Given the description of an element on the screen output the (x, y) to click on. 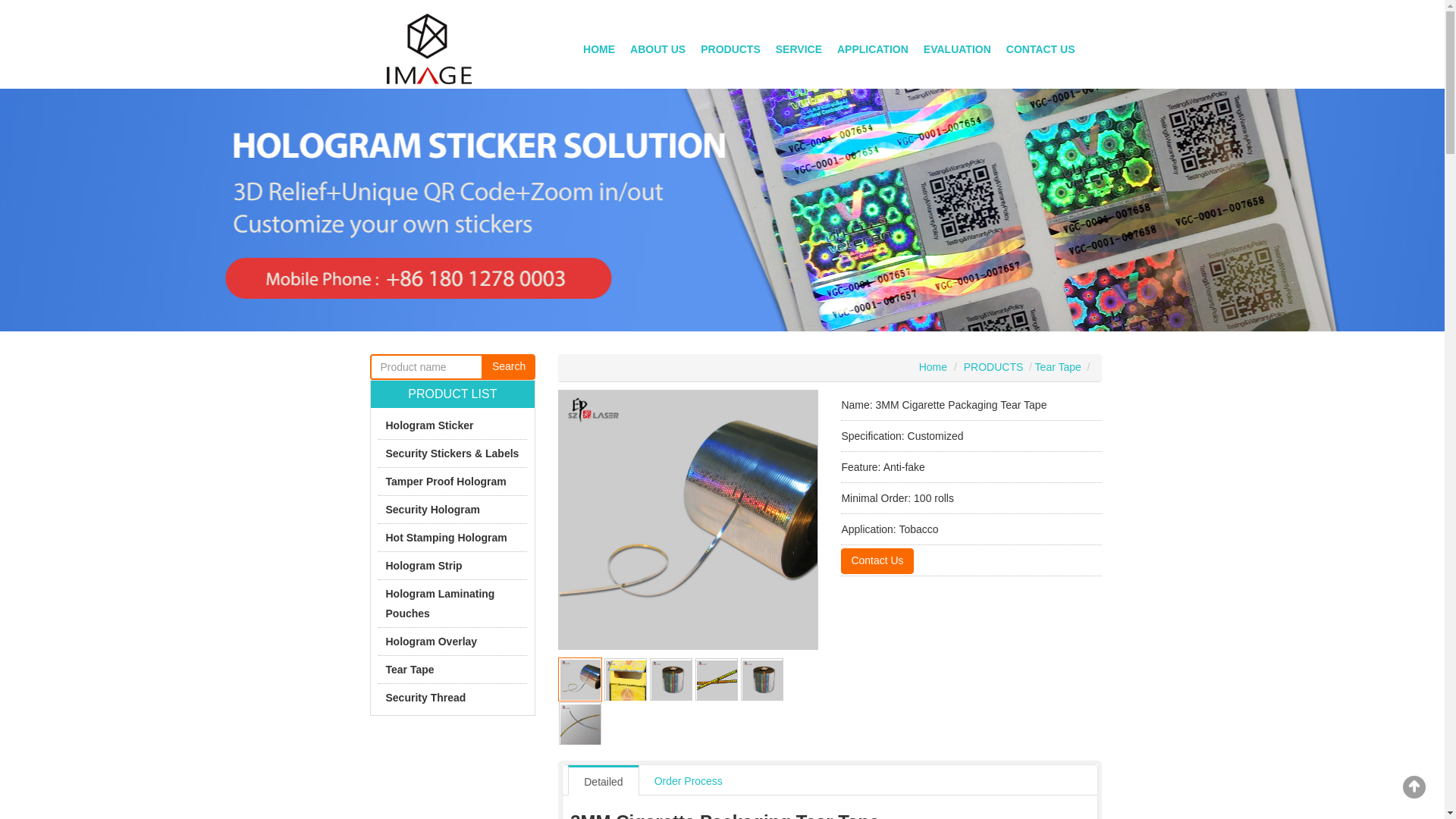
Scroll (1414, 787)
APPLICATION (872, 48)
ABOUT US (658, 48)
PRODUCTS (730, 48)
SERVICE (798, 48)
HOME (599, 48)
